Given the description of an element on the screen output the (x, y) to click on. 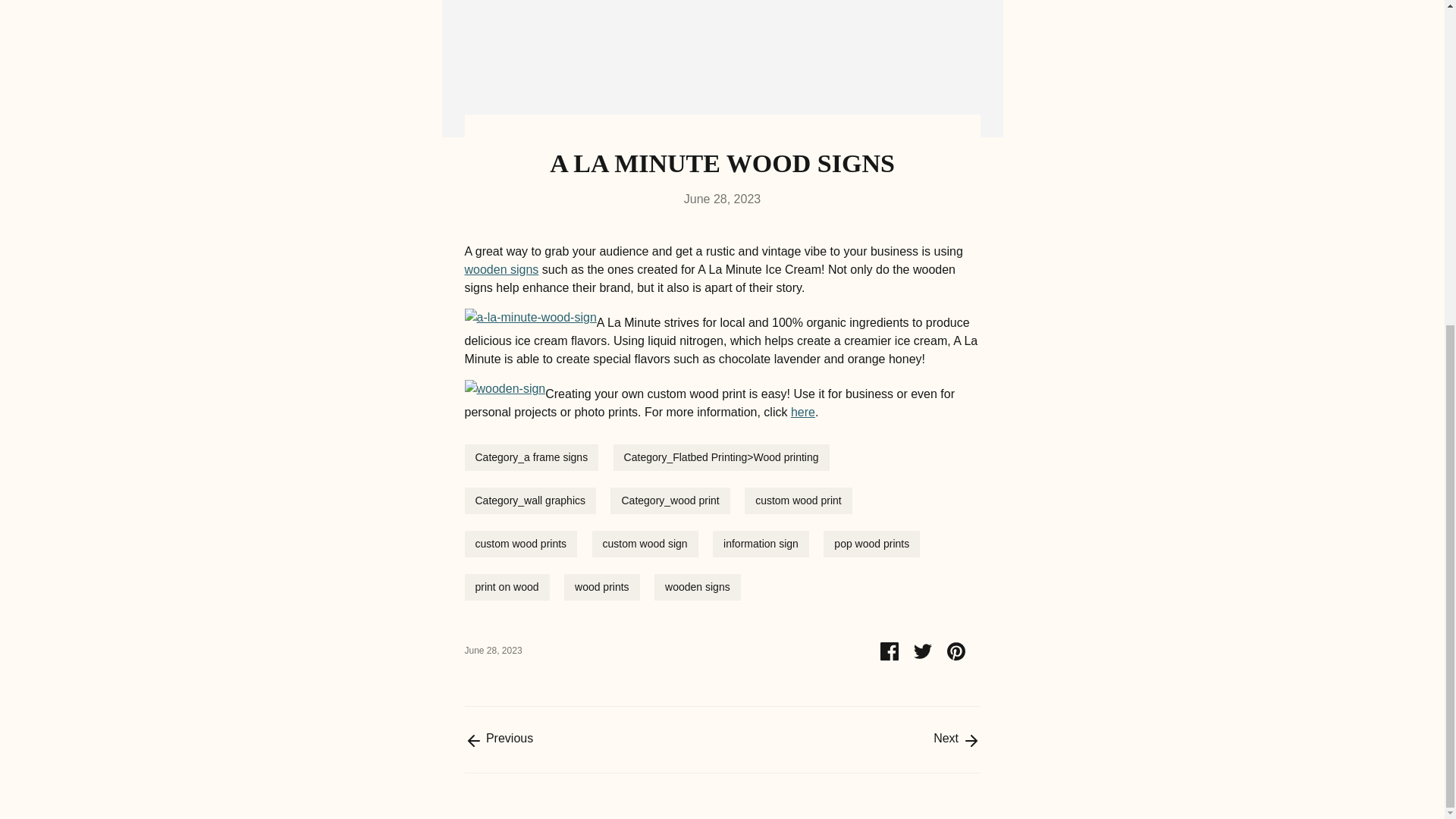
Venmo (1312, 239)
PayPal (1282, 239)
